Given the description of an element on the screen output the (x, y) to click on. 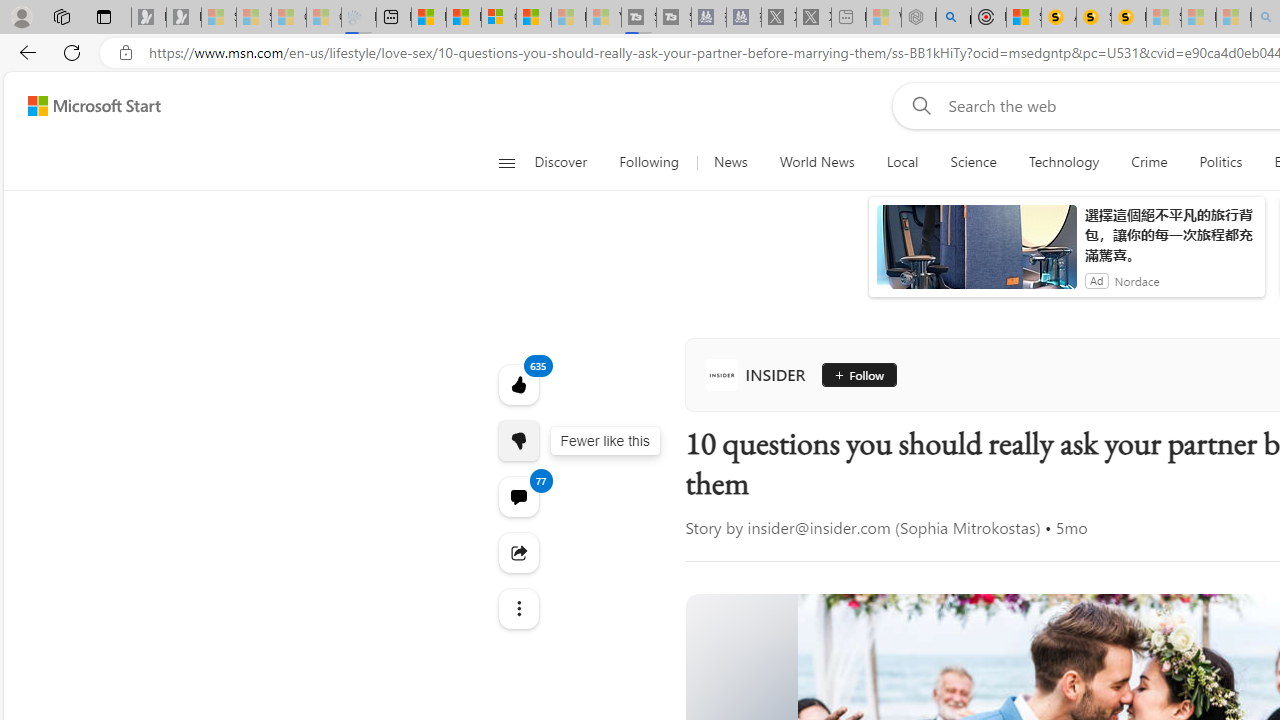
Microsoft Start (94, 105)
Share this story (517, 552)
Science (973, 162)
World News (817, 162)
Skip to content (86, 105)
Politics (1220, 162)
Following (649, 162)
Technology (1064, 162)
Discover (568, 162)
Class: button-glyph (505, 162)
News (730, 162)
